Given the description of an element on the screen output the (x, y) to click on. 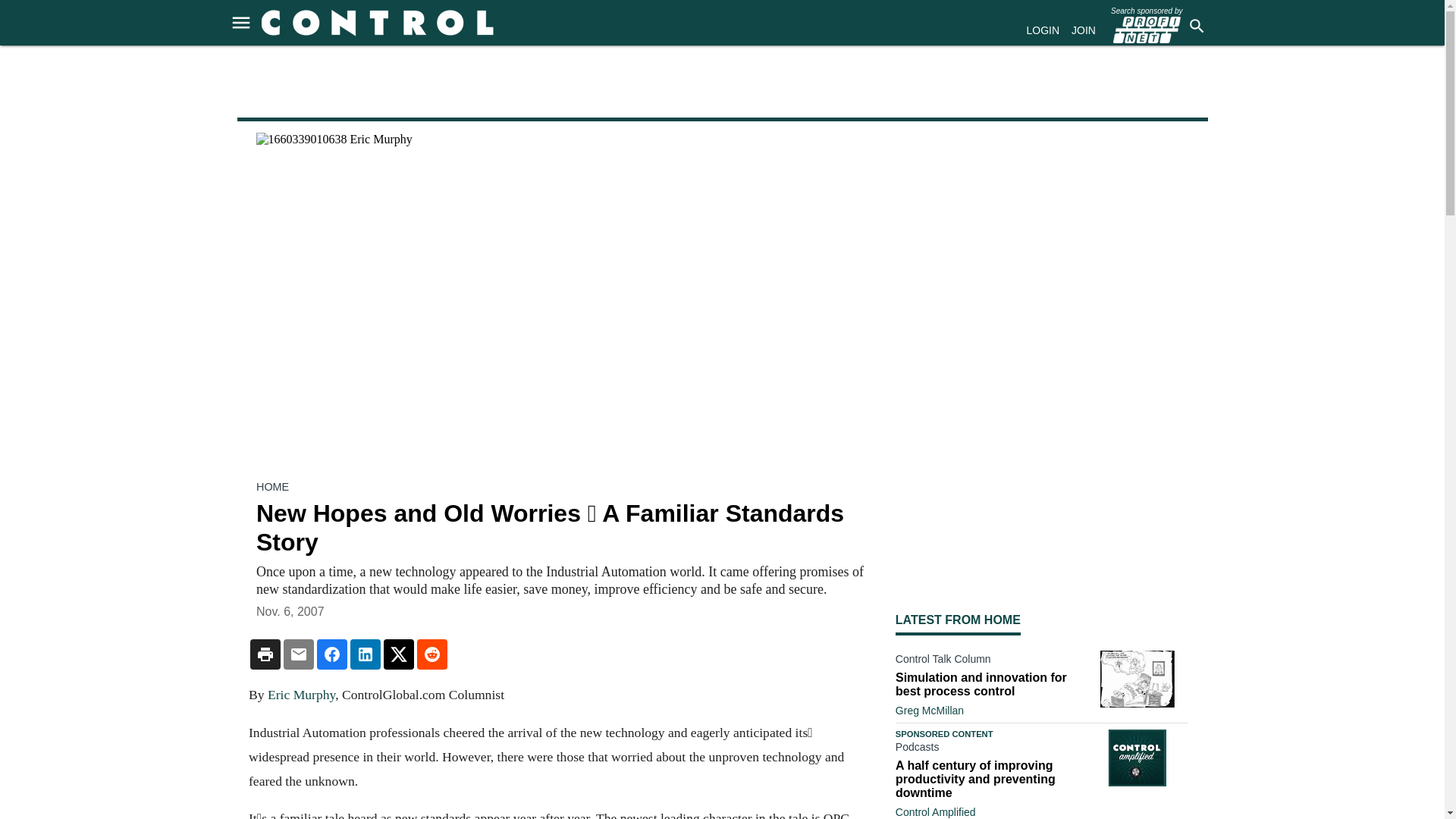
LOGIN (1042, 30)
JOIN (1083, 30)
